Given the description of an element on the screen output the (x, y) to click on. 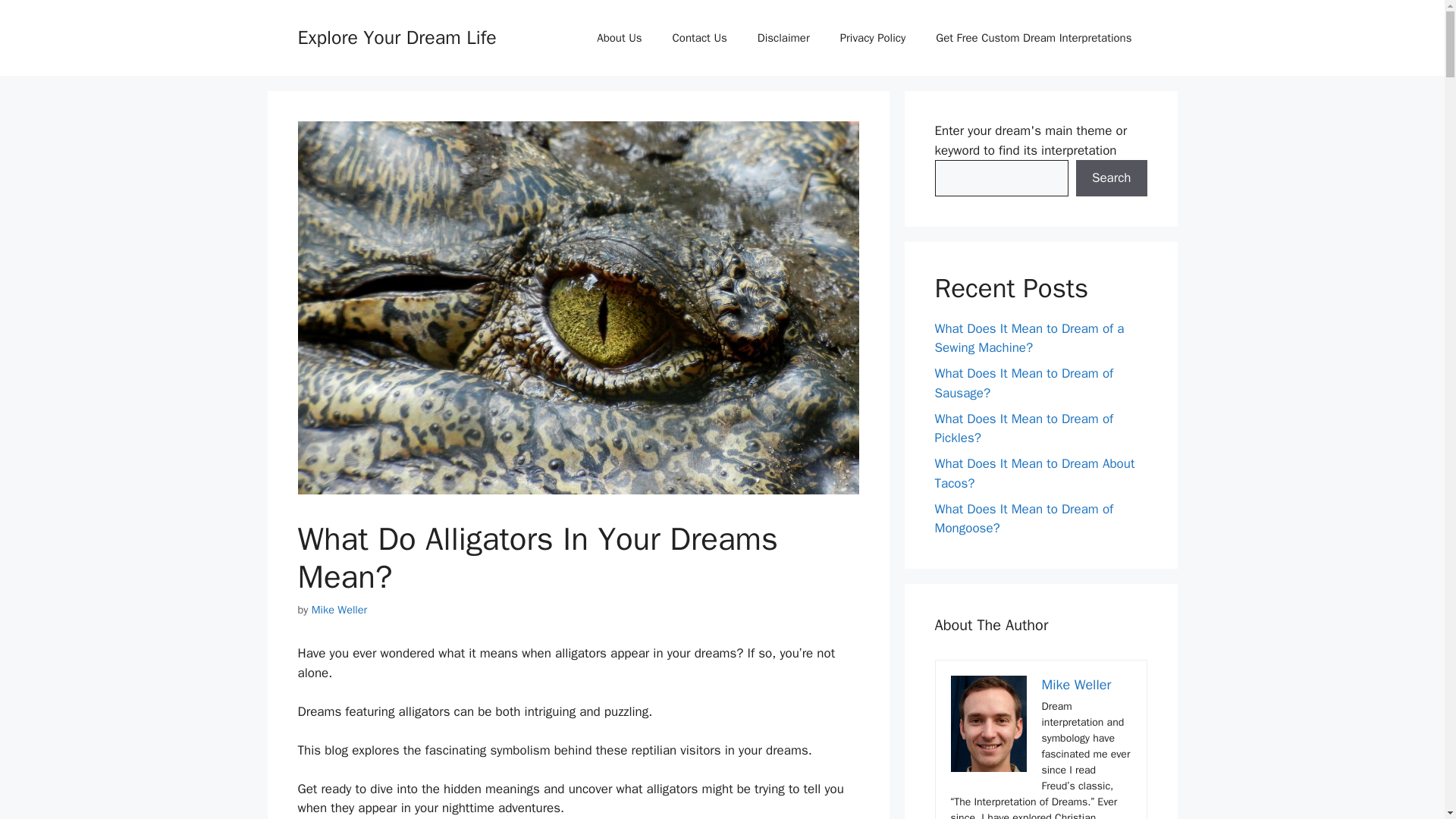
Contact Us (700, 37)
Mike Weller (339, 609)
About Us (618, 37)
Explore Your Dream Life (396, 37)
Privacy Policy (873, 37)
View all posts by Mike Weller (339, 609)
Get Free Custom Dream Interpretations (1033, 37)
Disclaimer (783, 37)
